Given the description of an element on the screen output the (x, y) to click on. 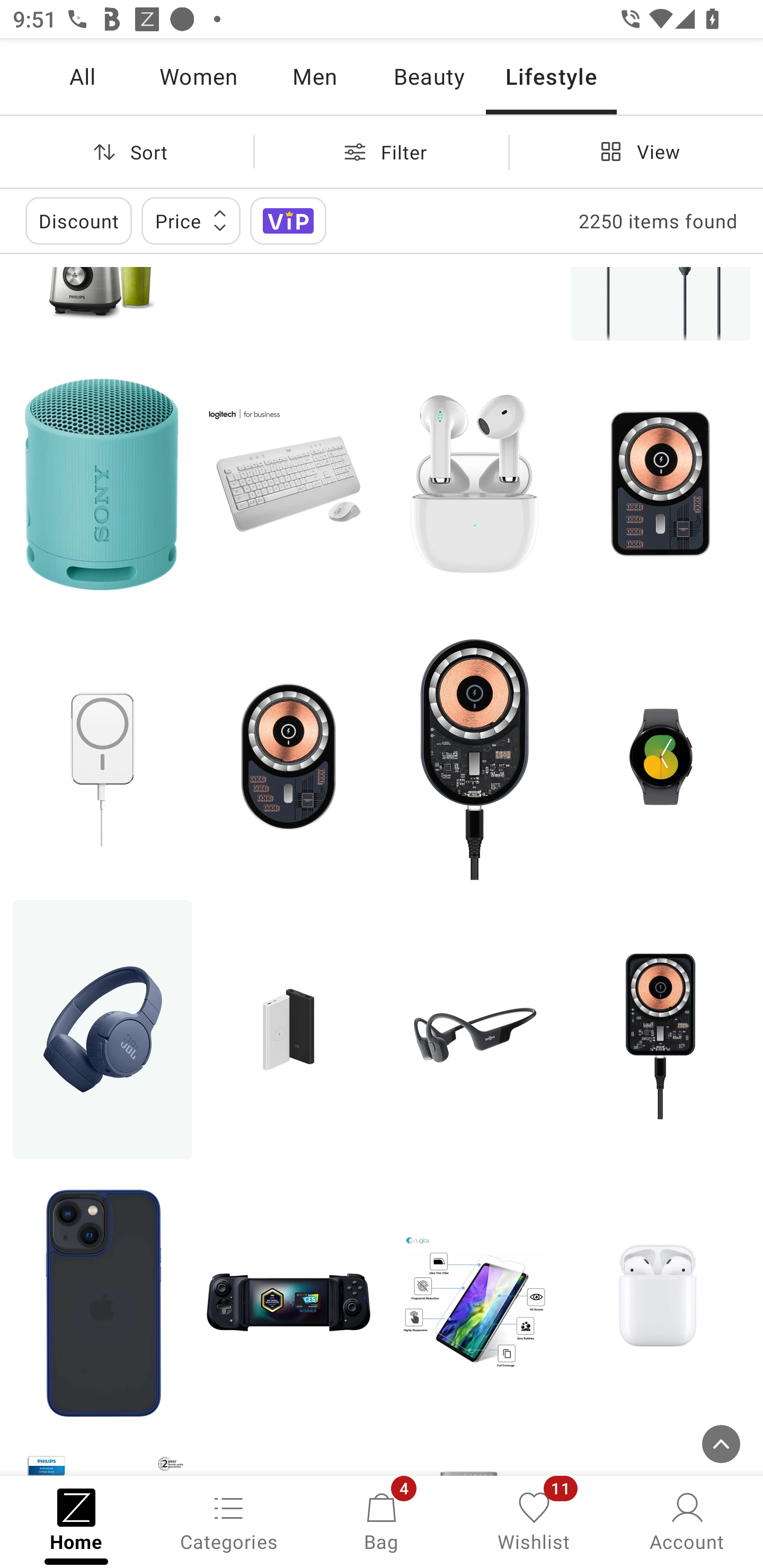
All (82, 75)
Women (198, 75)
Men (314, 75)
Beauty (428, 75)
Sort (126, 152)
Filter (381, 152)
View (636, 152)
Discount (78, 220)
Price (190, 220)
Categories (228, 1519)
Bag, 4 new notifications Bag (381, 1519)
Wishlist, 11 new notifications Wishlist (533, 1519)
Account (686, 1519)
